Given the description of an element on the screen output the (x, y) to click on. 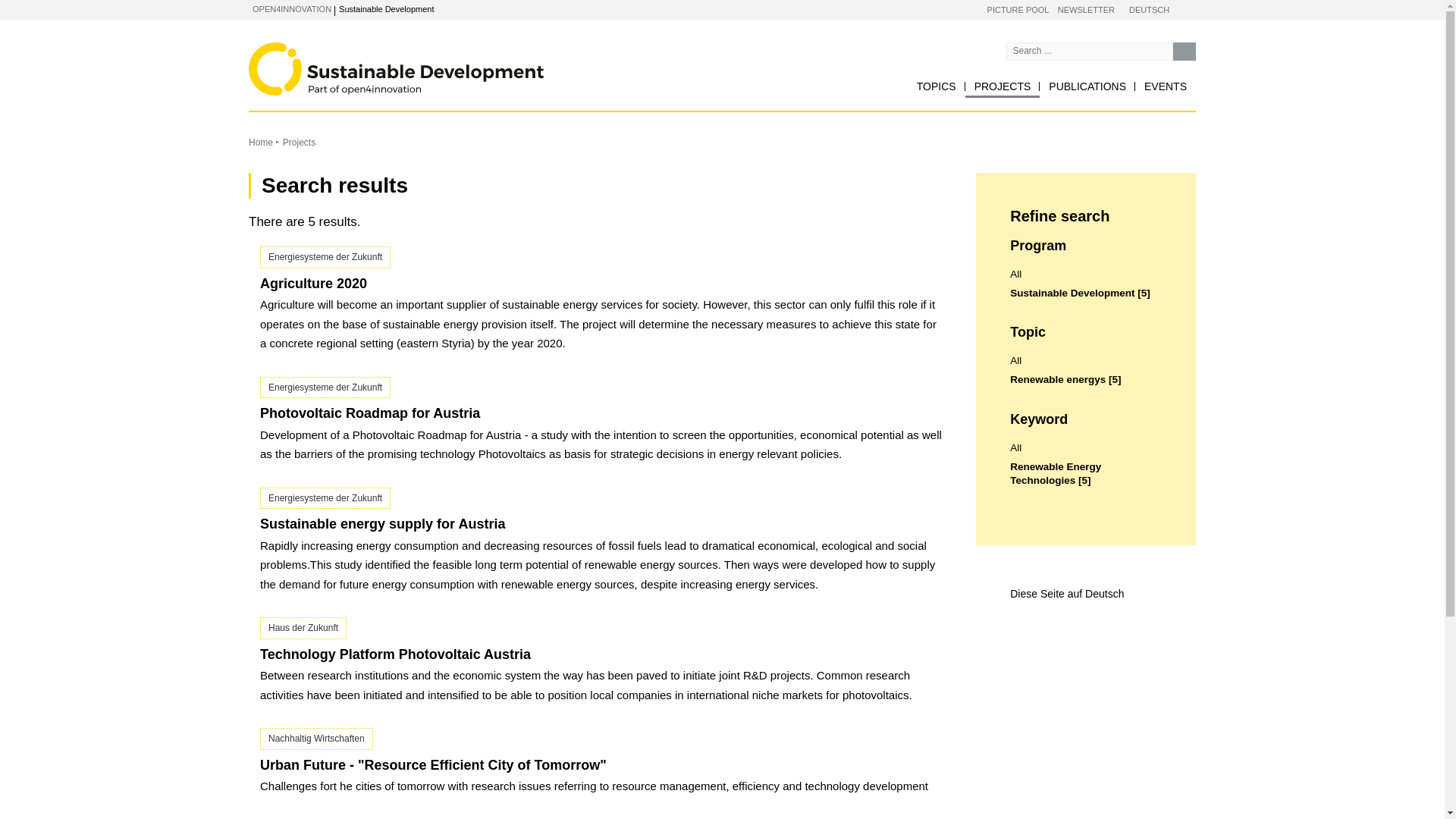
DEUTSCH (1149, 10)
PUBLICATIONS (1087, 86)
PROJECTS (1003, 86)
NEWSLETTER (1086, 10)
PICTURE POOL (1018, 10)
OPEN4INNOVATION (291, 9)
TOPICS (936, 86)
Show (362, 10)
Search ... (1184, 51)
